Given the description of an element on the screen output the (x, y) to click on. 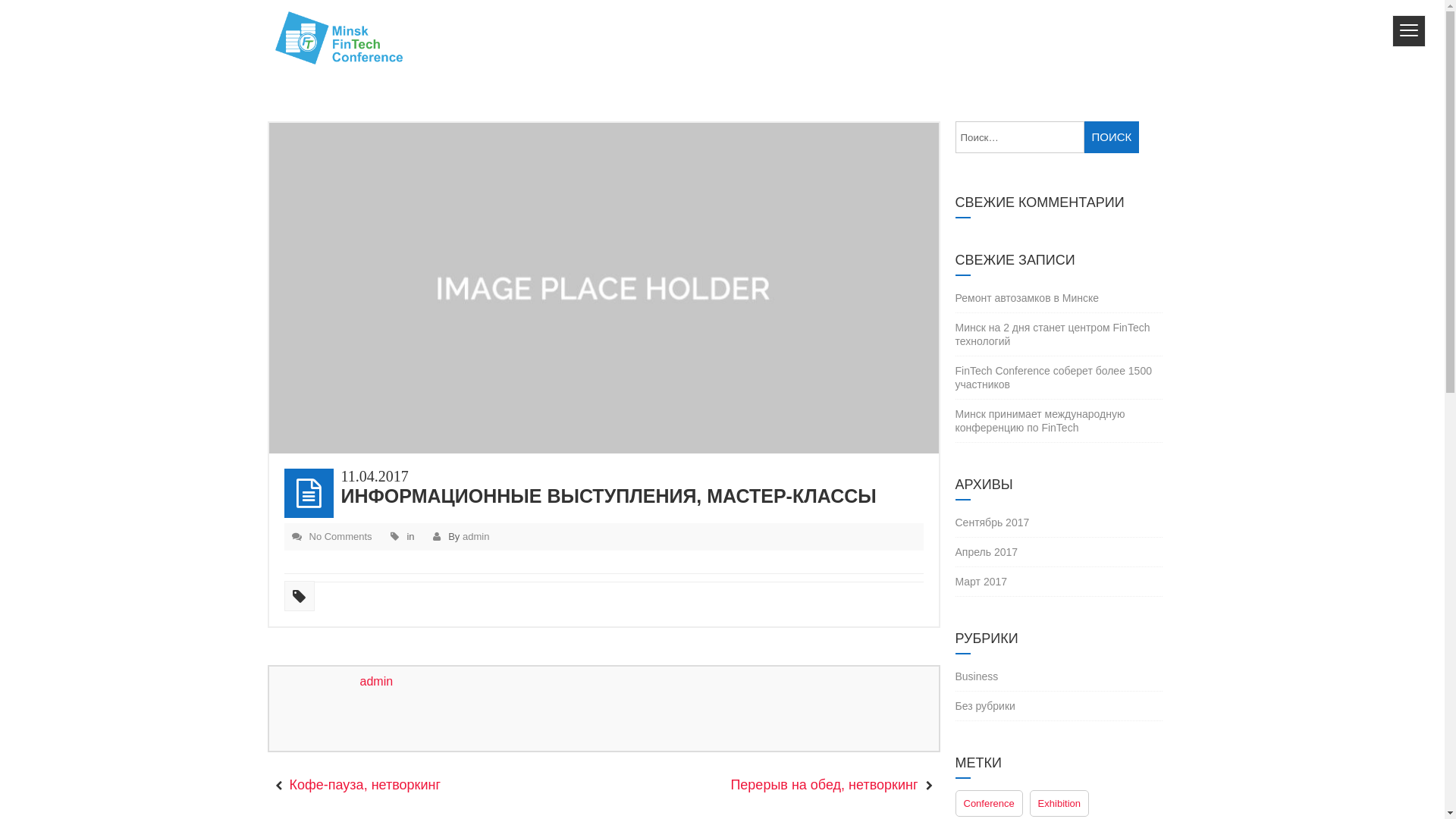
admin Element type: text (375, 680)
Exhibition Element type: text (1058, 803)
Business Element type: text (976, 676)
Conference Element type: text (988, 803)
admin Element type: text (475, 536)
No Comments Element type: text (340, 536)
